Given the description of an element on the screen output the (x, y) to click on. 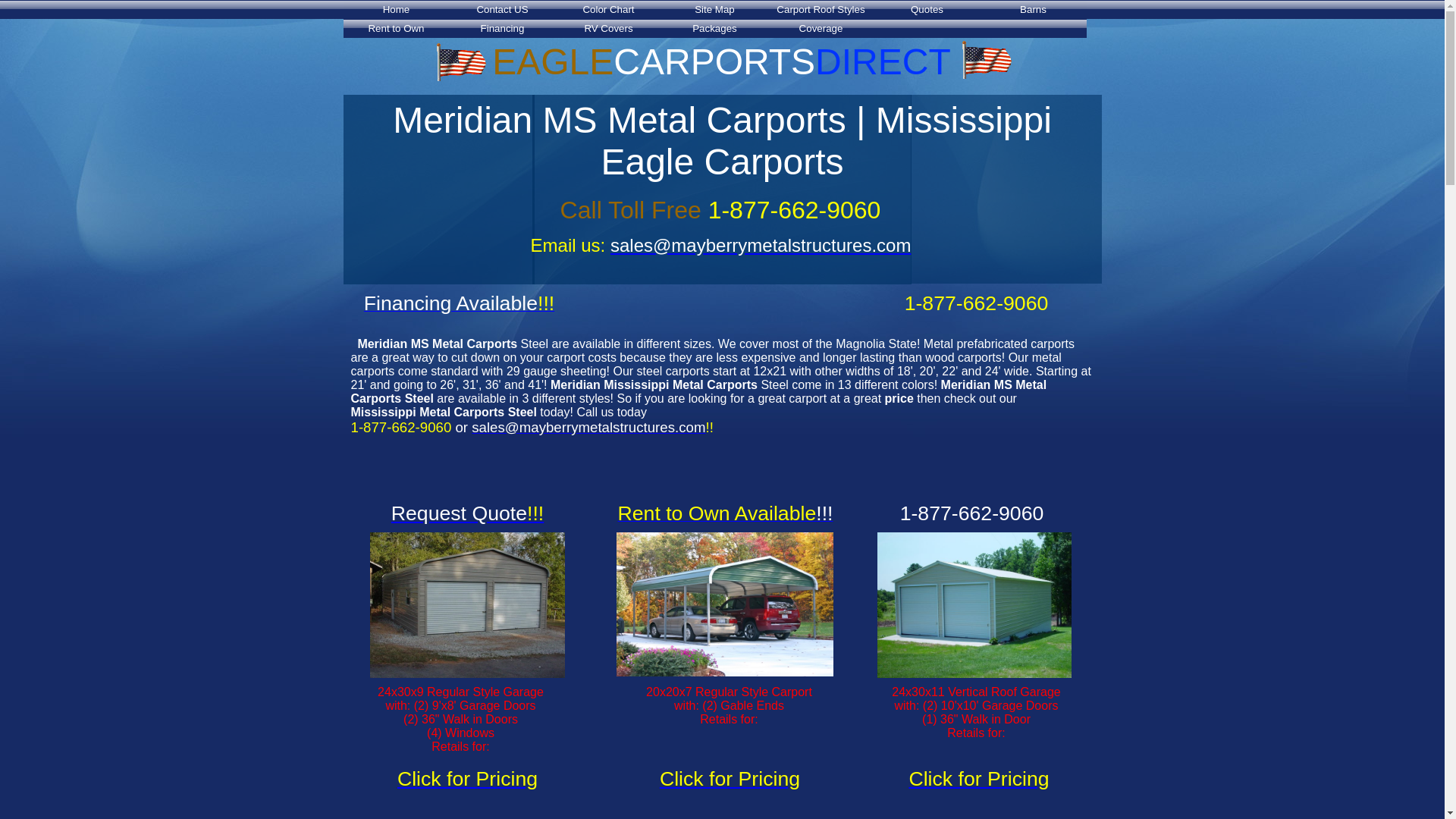
Barns (1032, 11)
Rent to Own Available!!! (724, 515)
Color Chart (607, 11)
Site Map (714, 11)
Request Quote!!! (467, 513)
Carport Roof Styles (820, 11)
RV Covers (607, 29)
Coverage (820, 29)
Click for Pricing (978, 778)
Financing Available!!! (459, 305)
Click for Pricing (729, 778)
Contact US (501, 11)
Quotes (926, 11)
Home (395, 11)
Packages (714, 29)
